Given the description of an element on the screen output the (x, y) to click on. 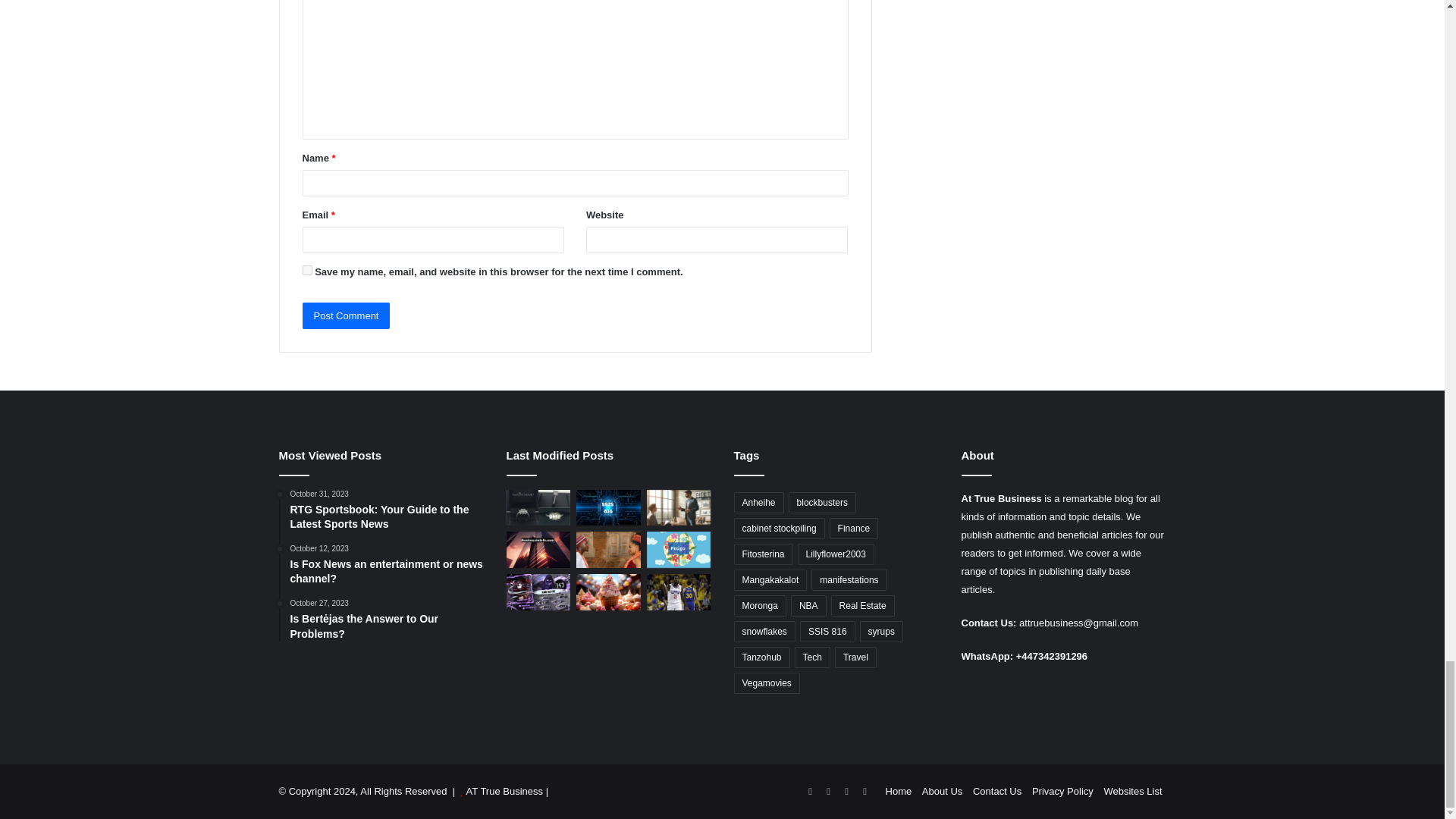
yes (306, 270)
Post Comment (345, 315)
